Given the description of an element on the screen output the (x, y) to click on. 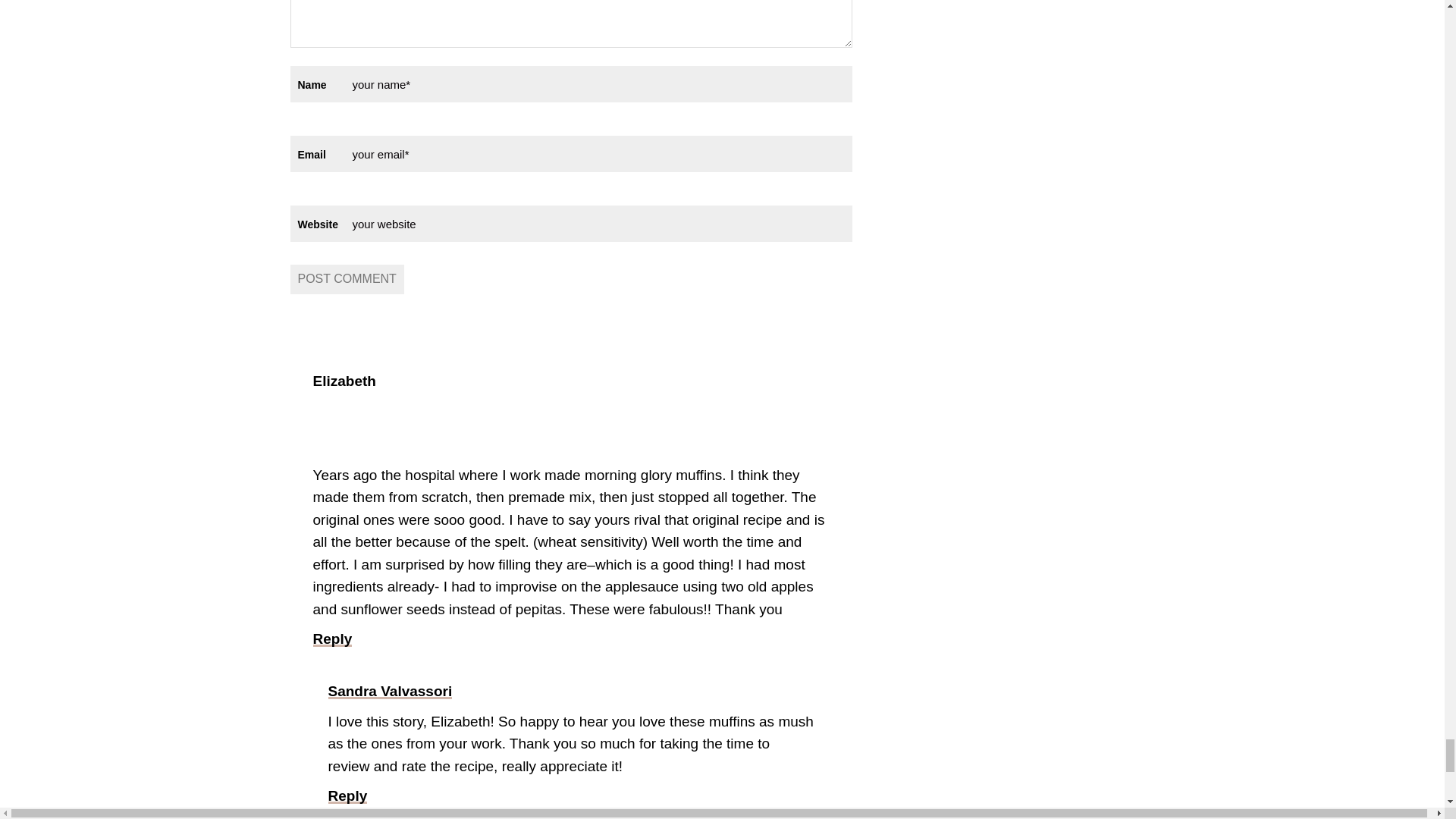
Post Comment (346, 278)
